Given the description of an element on the screen output the (x, y) to click on. 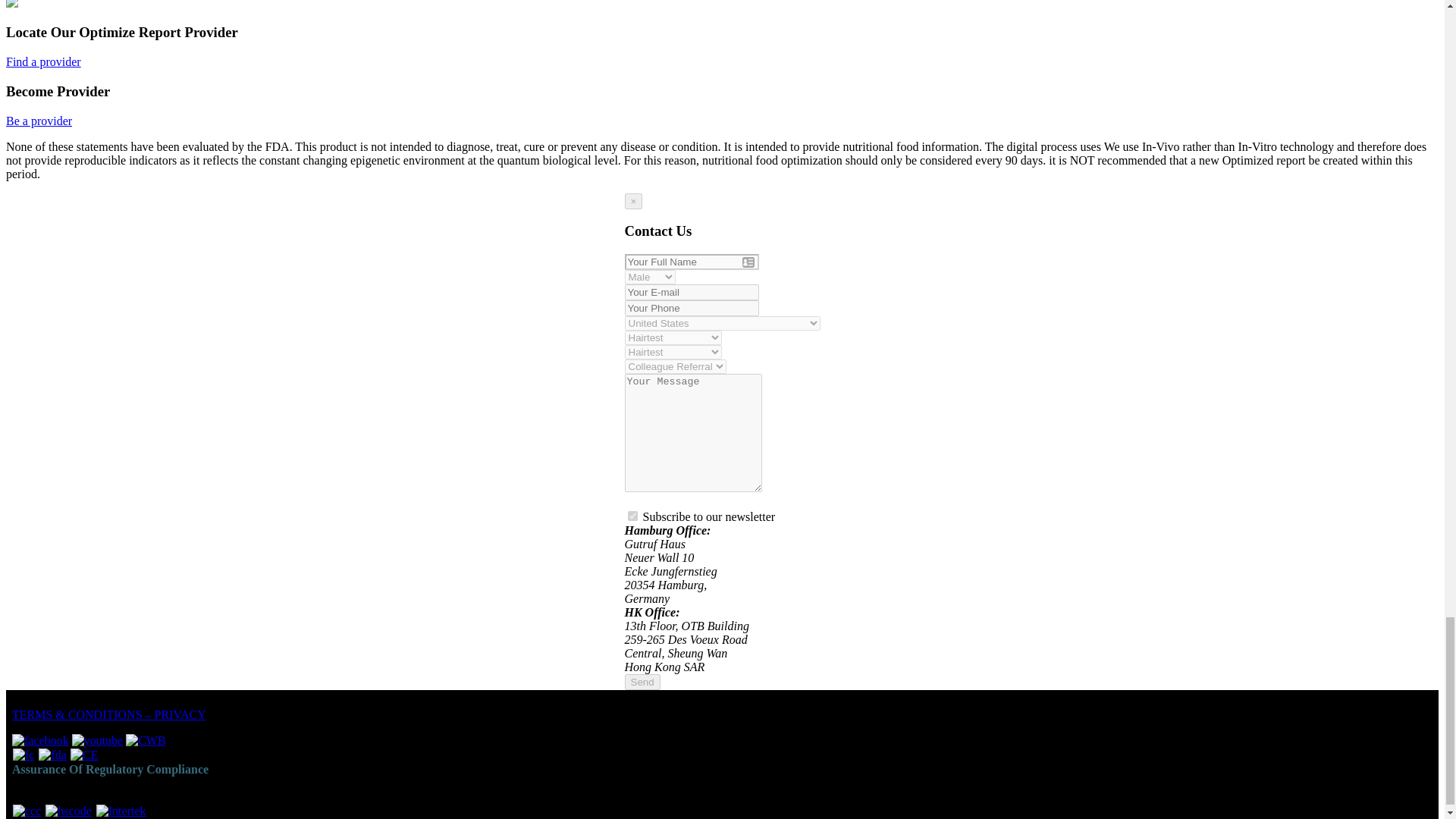
1 (632, 515)
